Given the description of an element on the screen output the (x, y) to click on. 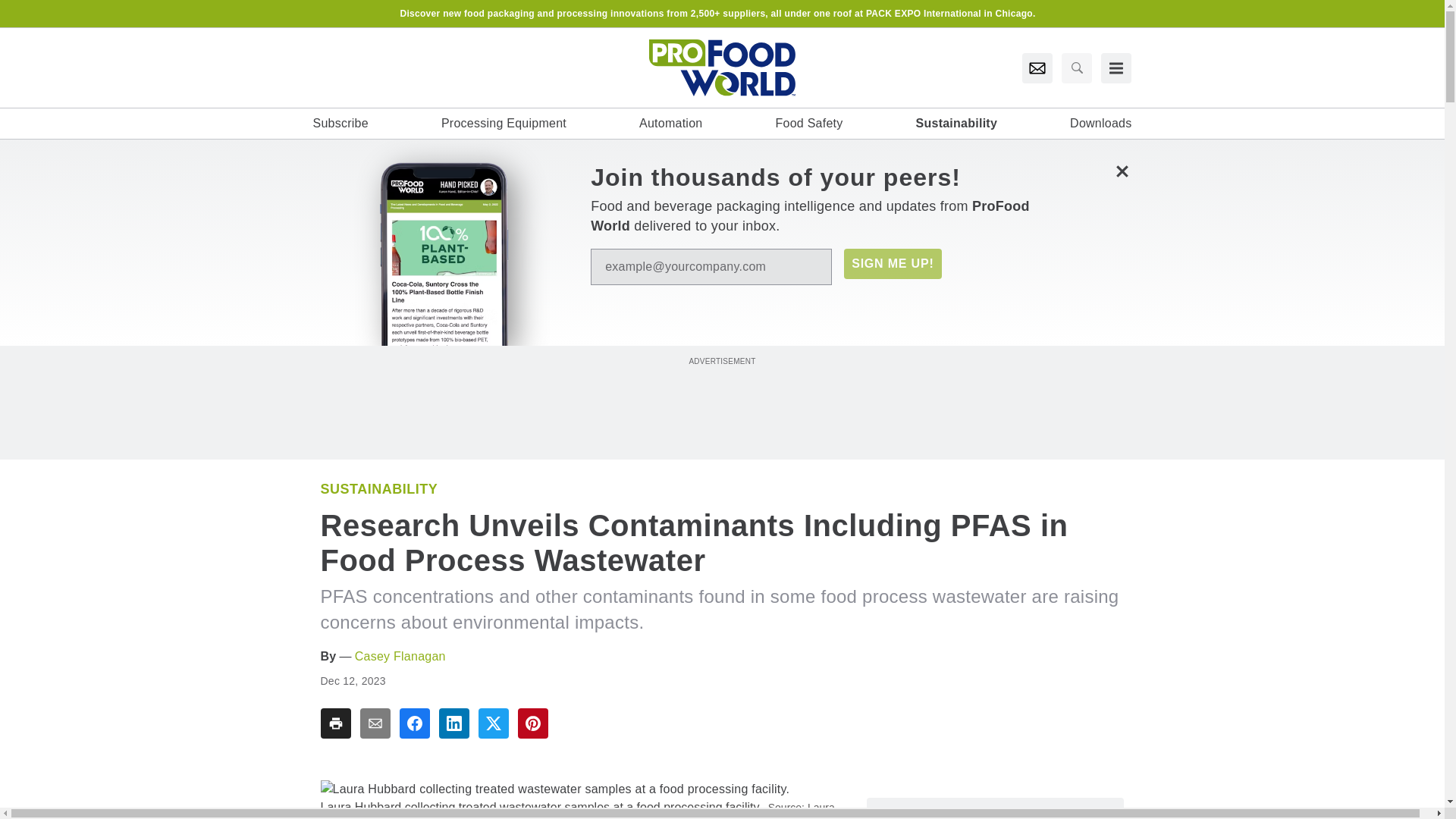
Downloads (1100, 123)
Food Safety (808, 123)
Automation (670, 123)
Subscribe (340, 123)
SIGN ME UP! (892, 263)
Share To twitter (492, 723)
Share To pinterest (531, 723)
Share To linkedin (453, 723)
Share To email (374, 723)
Processing Equipment (503, 123)
